Given the description of an element on the screen output the (x, y) to click on. 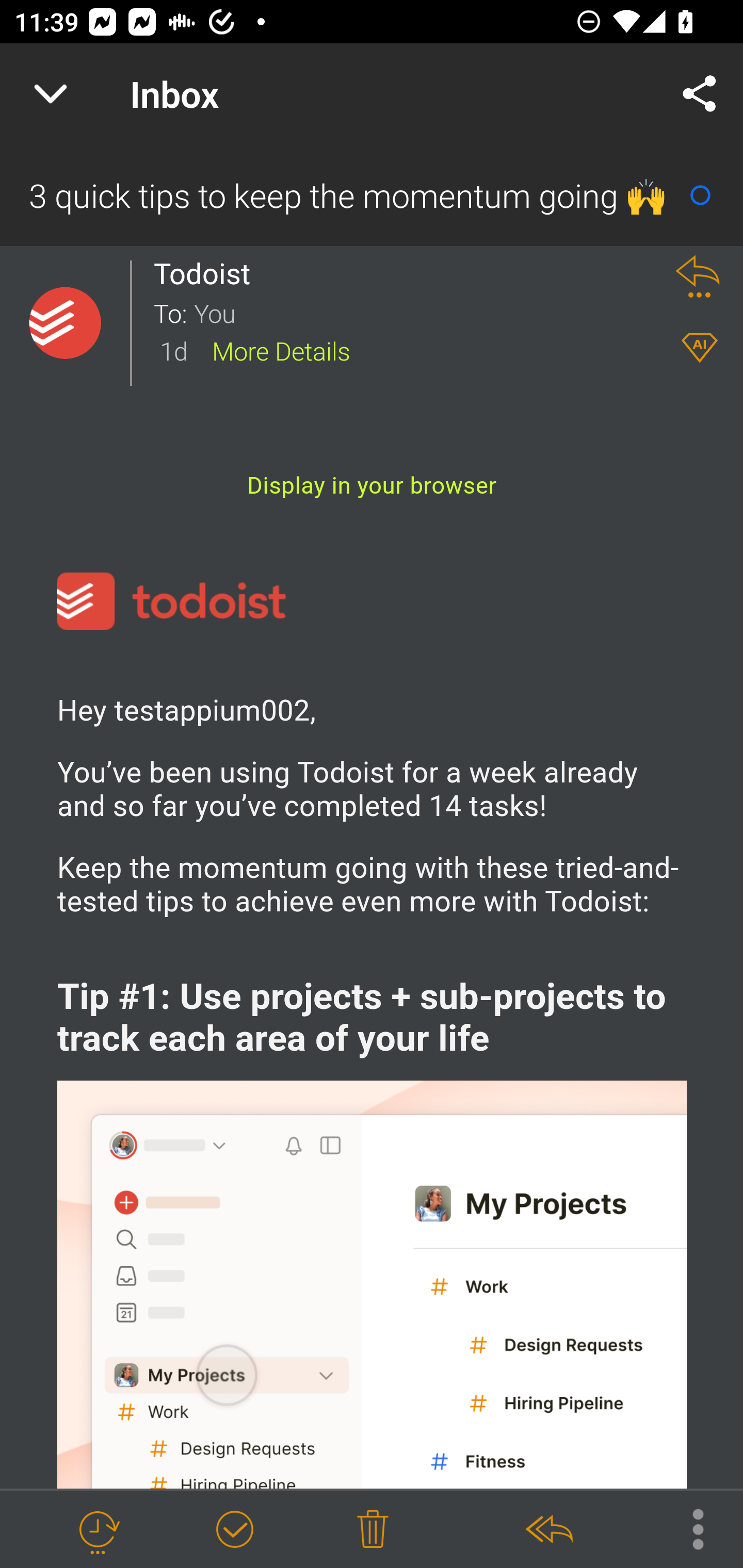
Navigate up (50, 93)
Share (699, 93)
Mark as Read (699, 194)
Todoist (207, 273)
Contact Details (64, 322)
You (422, 311)
More Details (280, 349)
Display in your browser (371, 485)
More Options (687, 1528)
Snooze (97, 1529)
Mark as Done (234, 1529)
Delete (372, 1529)
Reply All (548, 1529)
